Given the description of an element on the screen output the (x, y) to click on. 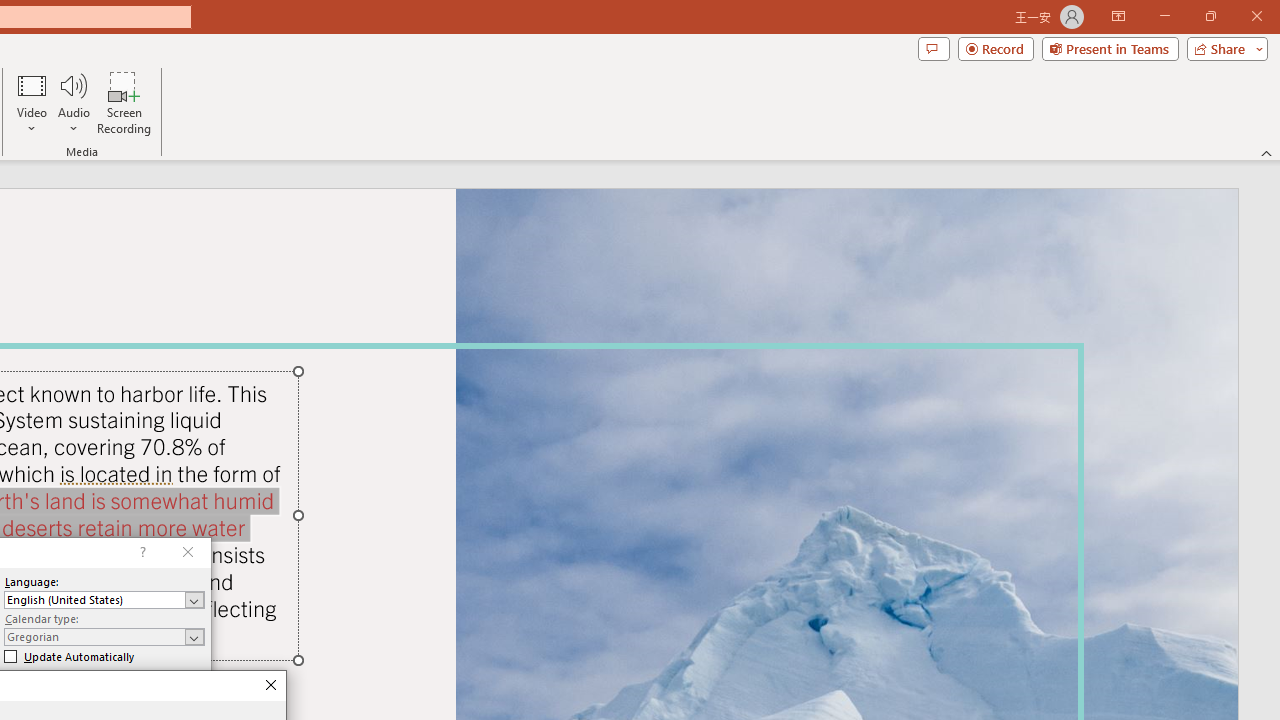
Context help (141, 552)
Restore Down (1210, 16)
Calendar type (103, 636)
Comments (933, 48)
Present in Teams (1109, 48)
Collapse the Ribbon (1267, 152)
Minimize (1164, 16)
Ribbon Display Options (1118, 16)
Screen Recording... (123, 102)
Video (31, 102)
Update Automatically (69, 656)
Close (269, 686)
Language (103, 600)
